Given the description of an element on the screen output the (x, y) to click on. 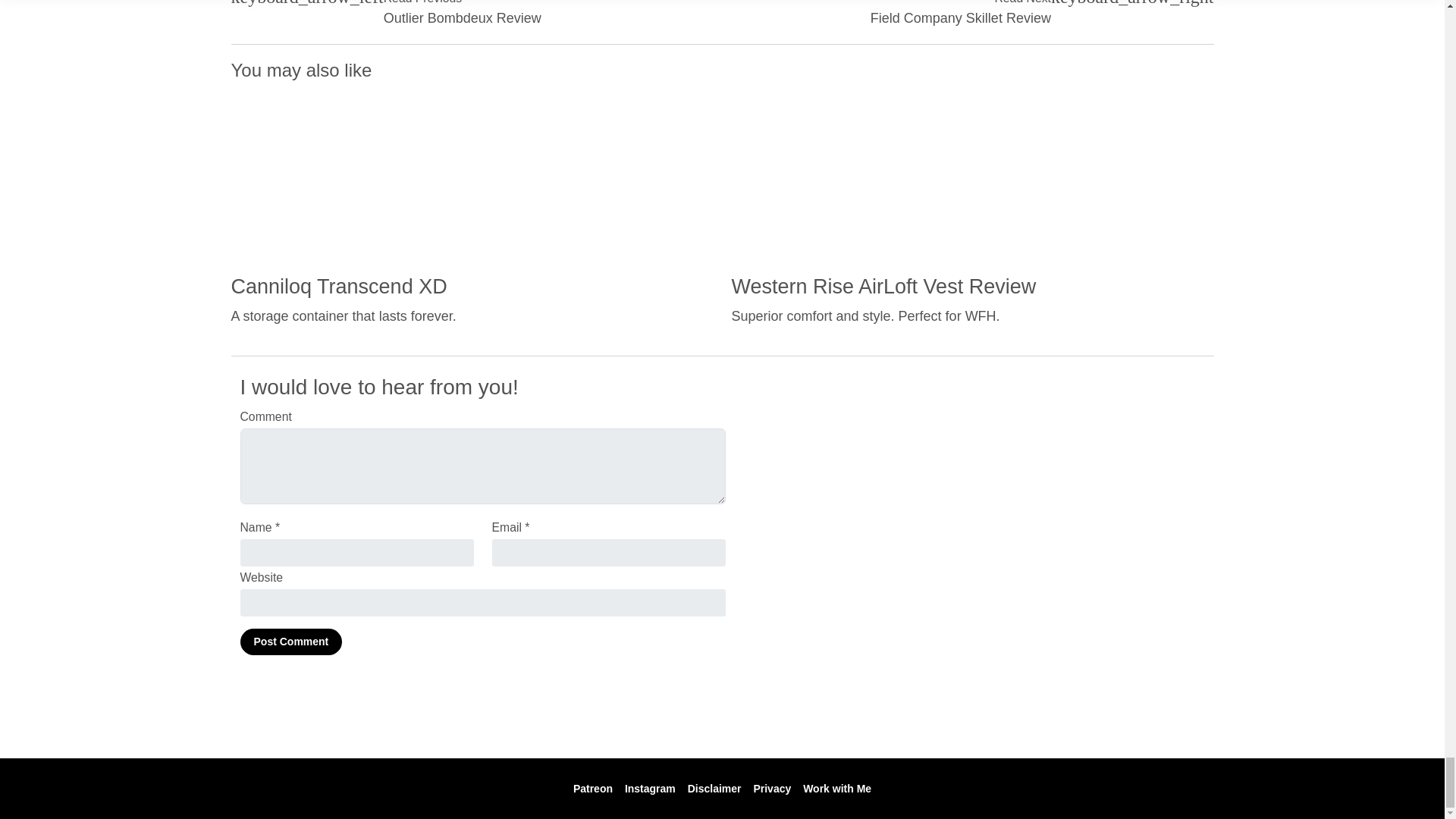
Outlier Bombdeux Review (462, 17)
Post Comment (291, 641)
Field Company Skillet Review (960, 17)
Instagram (649, 788)
Western Rise AirLoft Vest Review (882, 286)
Support me on Patreon (592, 788)
Canniloq Transcend XD (338, 286)
Patreon (592, 788)
